Given the description of an element on the screen output the (x, y) to click on. 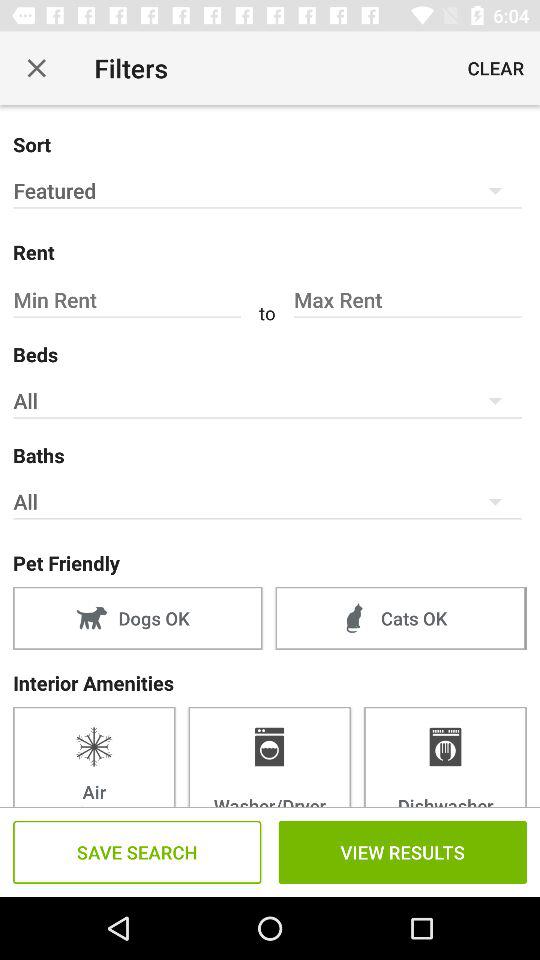
press the item above the interior amenities icon (400, 617)
